Given the description of an element on the screen output the (x, y) to click on. 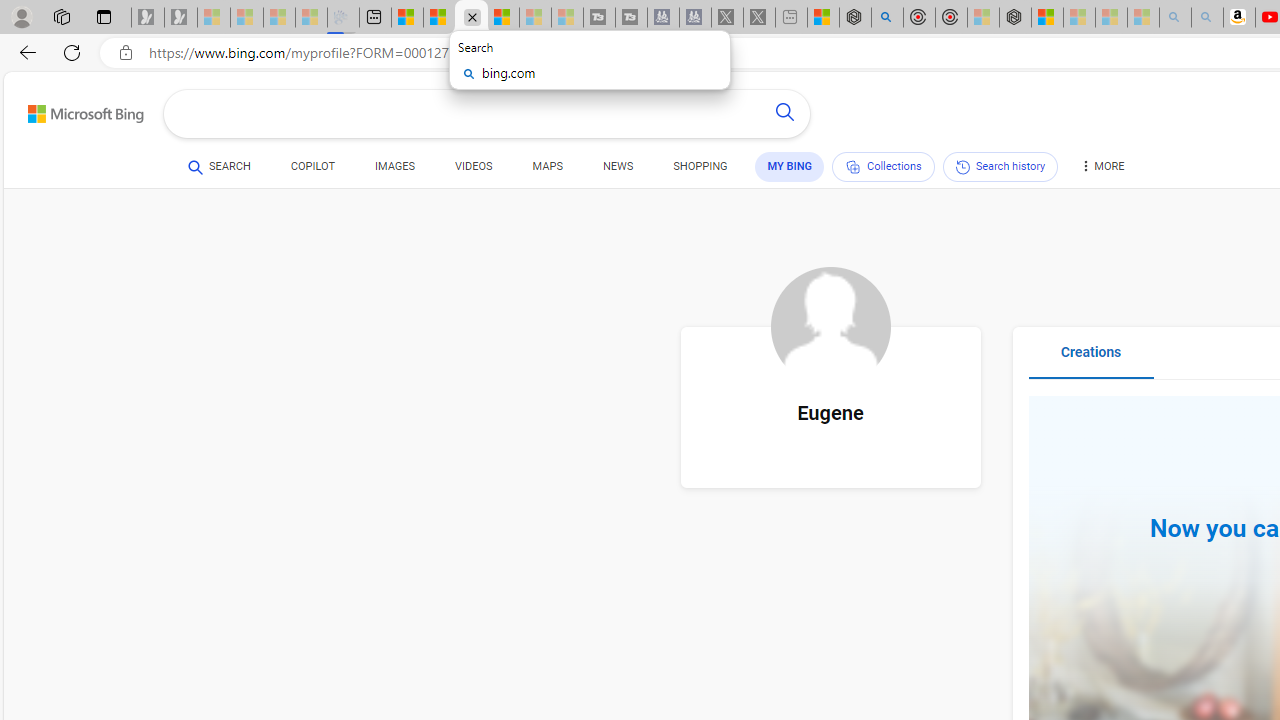
MY BING (789, 167)
Search button (784, 114)
Class: b_pri_nav_svg (852, 167)
SHOPPING (699, 166)
SHOPPING (699, 169)
Dropdown Menu (1101, 166)
VIDEOS (473, 169)
COPILOT (311, 166)
